Given the description of an element on the screen output the (x, y) to click on. 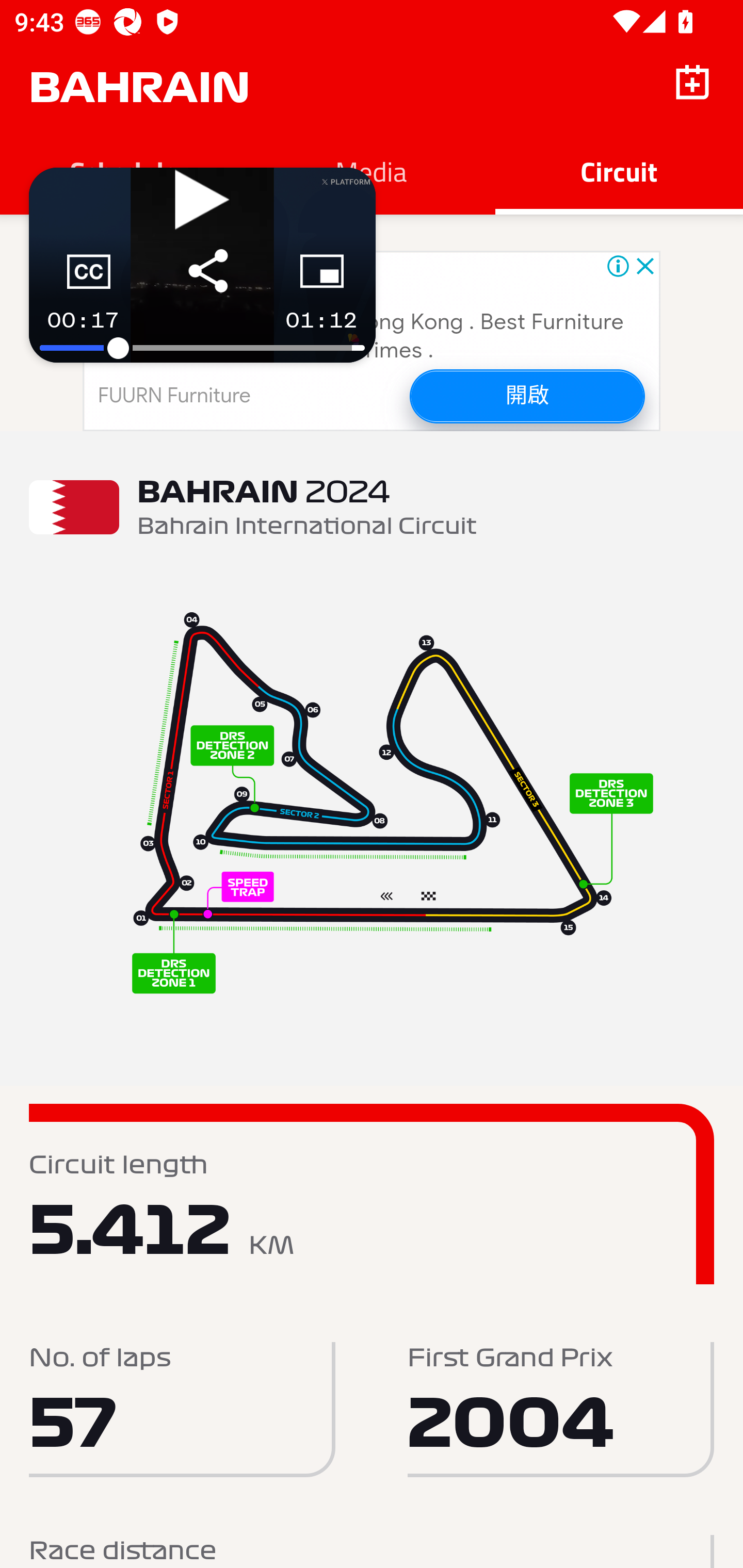
開啟 (526, 395)
FUURN Furniture (174, 395)
